Given the description of an element on the screen output the (x, y) to click on. 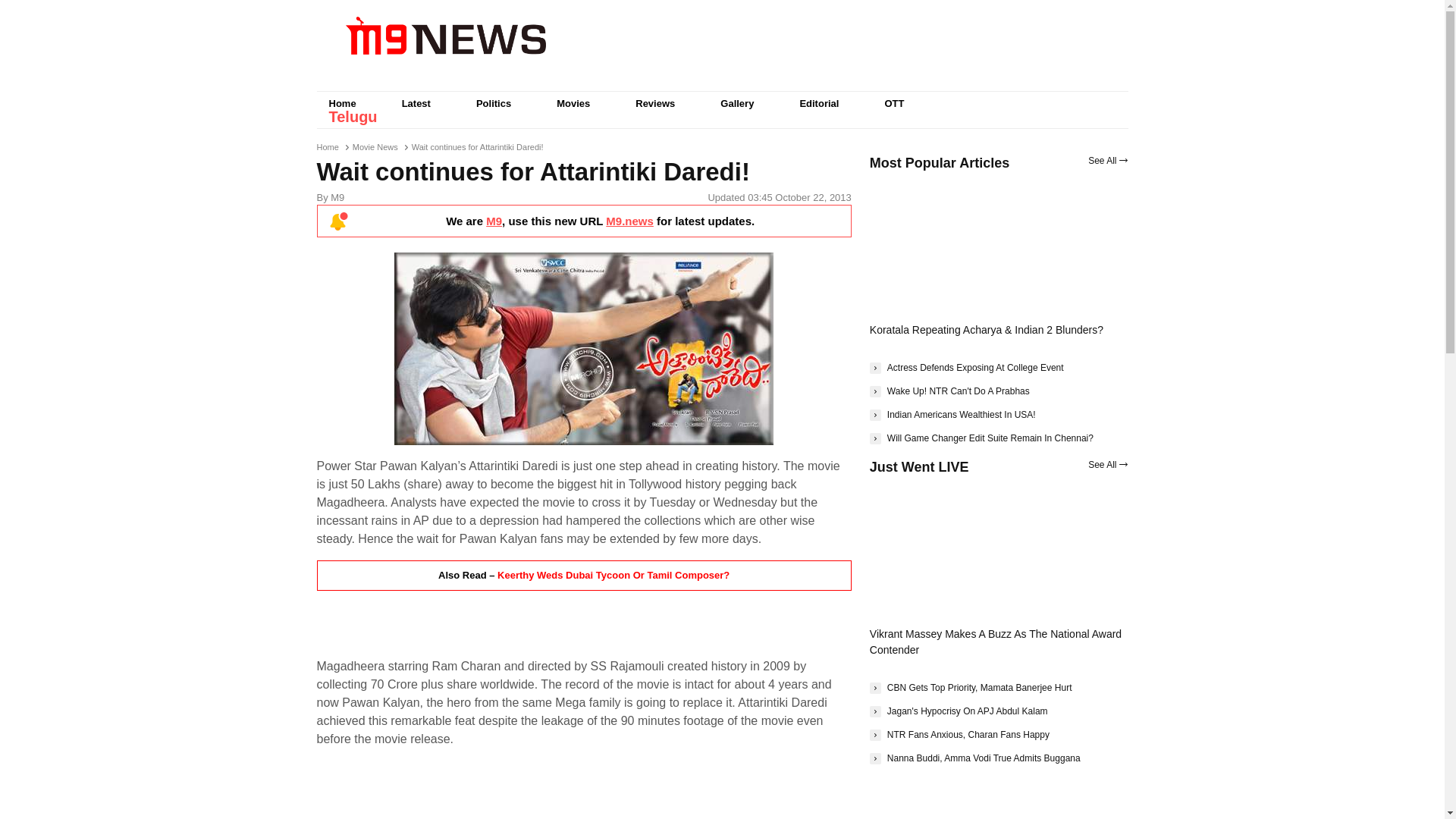
Indian Americans Wealthiest In USA! (952, 414)
OTT (893, 102)
M9 (494, 220)
Wake Up! NTR Can't Do A Prabhas (949, 391)
Reviews (655, 102)
Home (328, 146)
Editorial (818, 102)
Movie News (374, 146)
See All (1106, 160)
M9.news (629, 220)
See All (1106, 464)
Telugu (353, 116)
Actress Defends Exposing At College Event (966, 367)
Gallery (736, 102)
Home (342, 102)
